Given the description of an element on the screen output the (x, y) to click on. 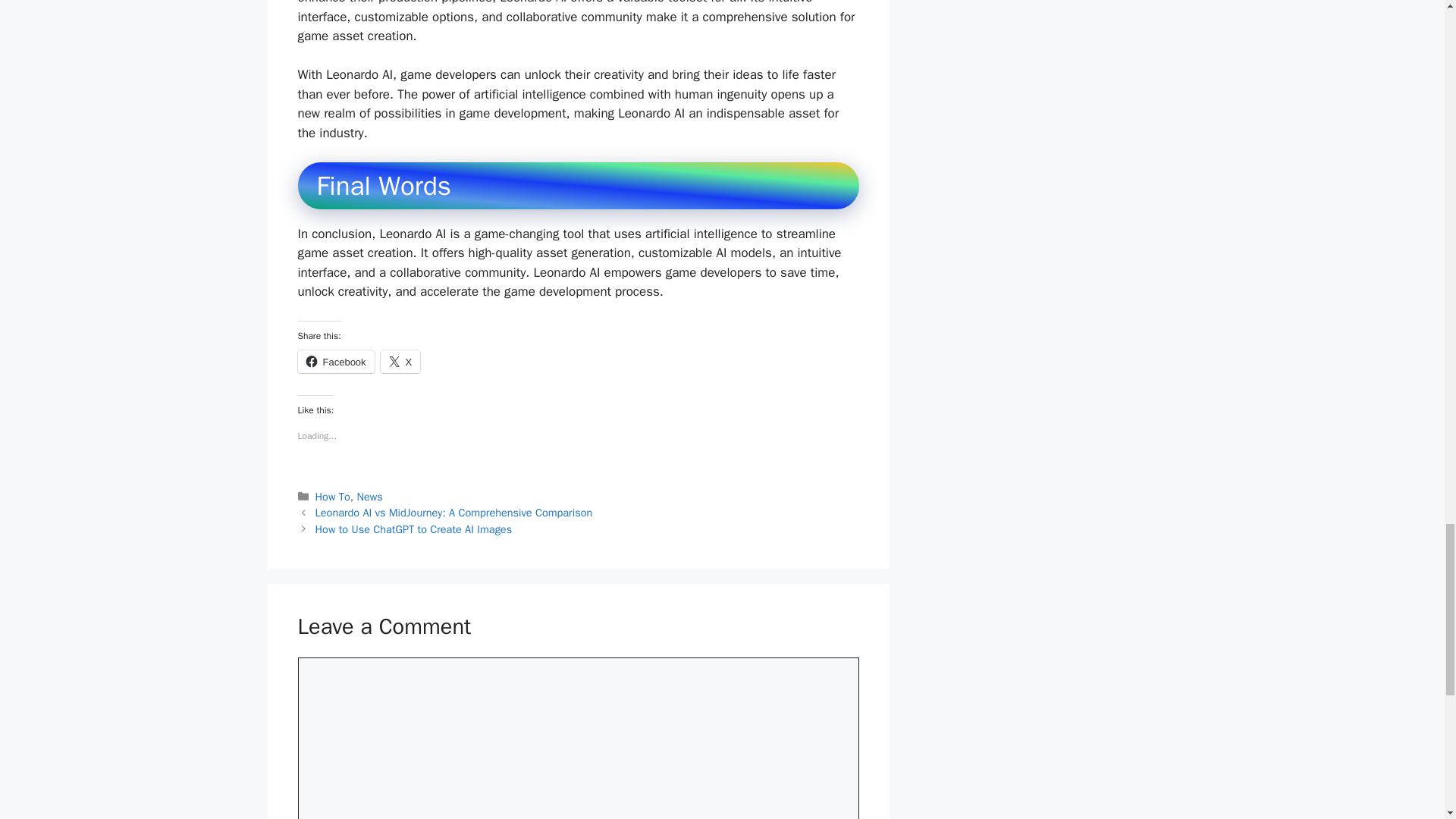
Click to share on X (400, 361)
Leonardo AI vs MidJourney: A Comprehensive Comparison (453, 512)
Click to share on Facebook (335, 361)
How To (332, 496)
News (368, 496)
Facebook (335, 361)
X (400, 361)
How to Use ChatGPT to Create AI Images (413, 529)
